Given the description of an element on the screen output the (x, y) to click on. 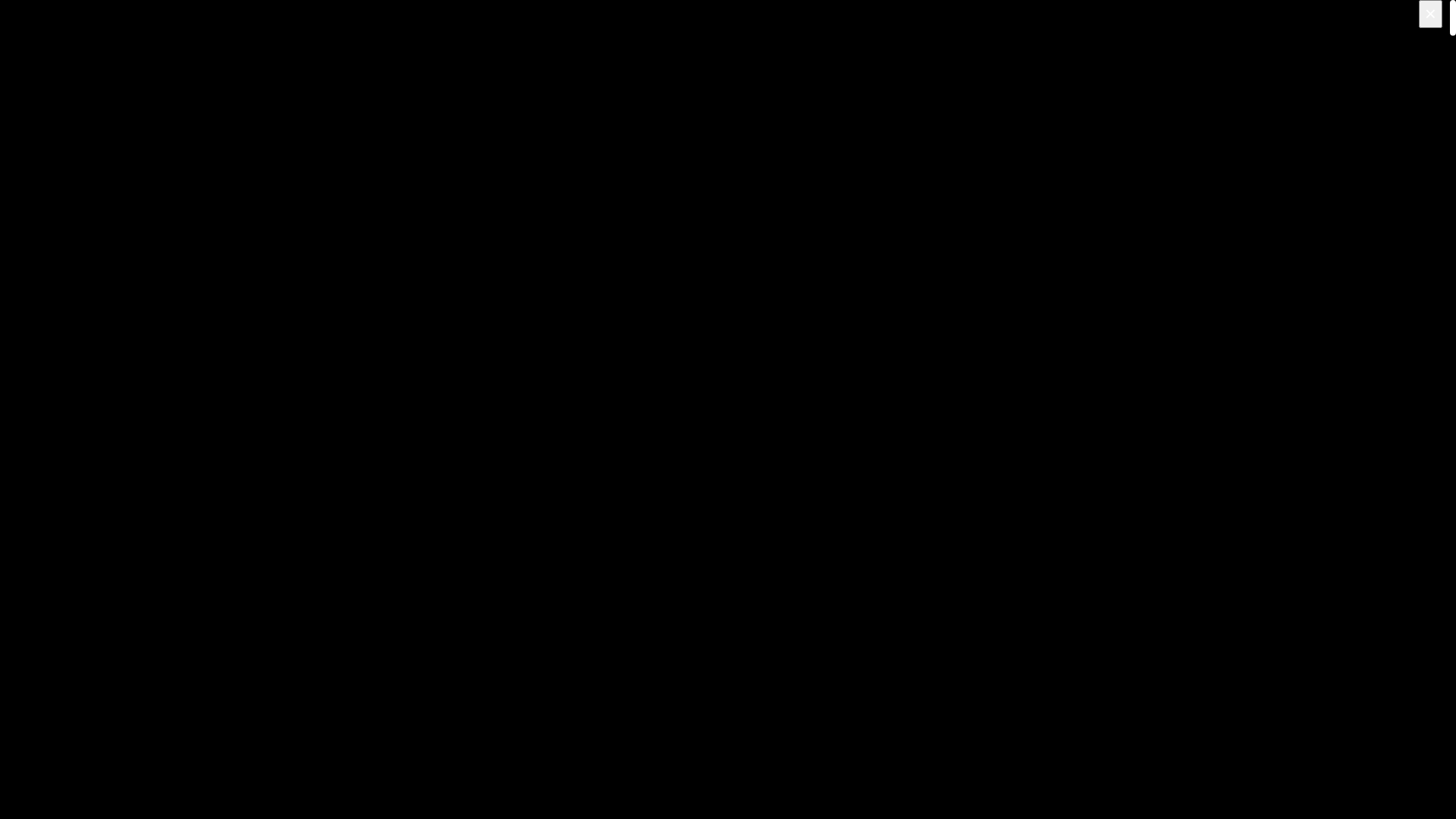
CONTACT Element type: text (59, 151)
BLOG Element type: text (46, 139)
HOME Element type: text (48, 71)
SERVICES Element type: text (57, 82)
WHO WE ARE Element type: text (69, 105)
TECHNOLOGY Element type: text (70, 128)
EXPERTISES Element type: text (64, 94)
OUR WORK Element type: text (62, 116)
